Given the description of an element on the screen output the (x, y) to click on. 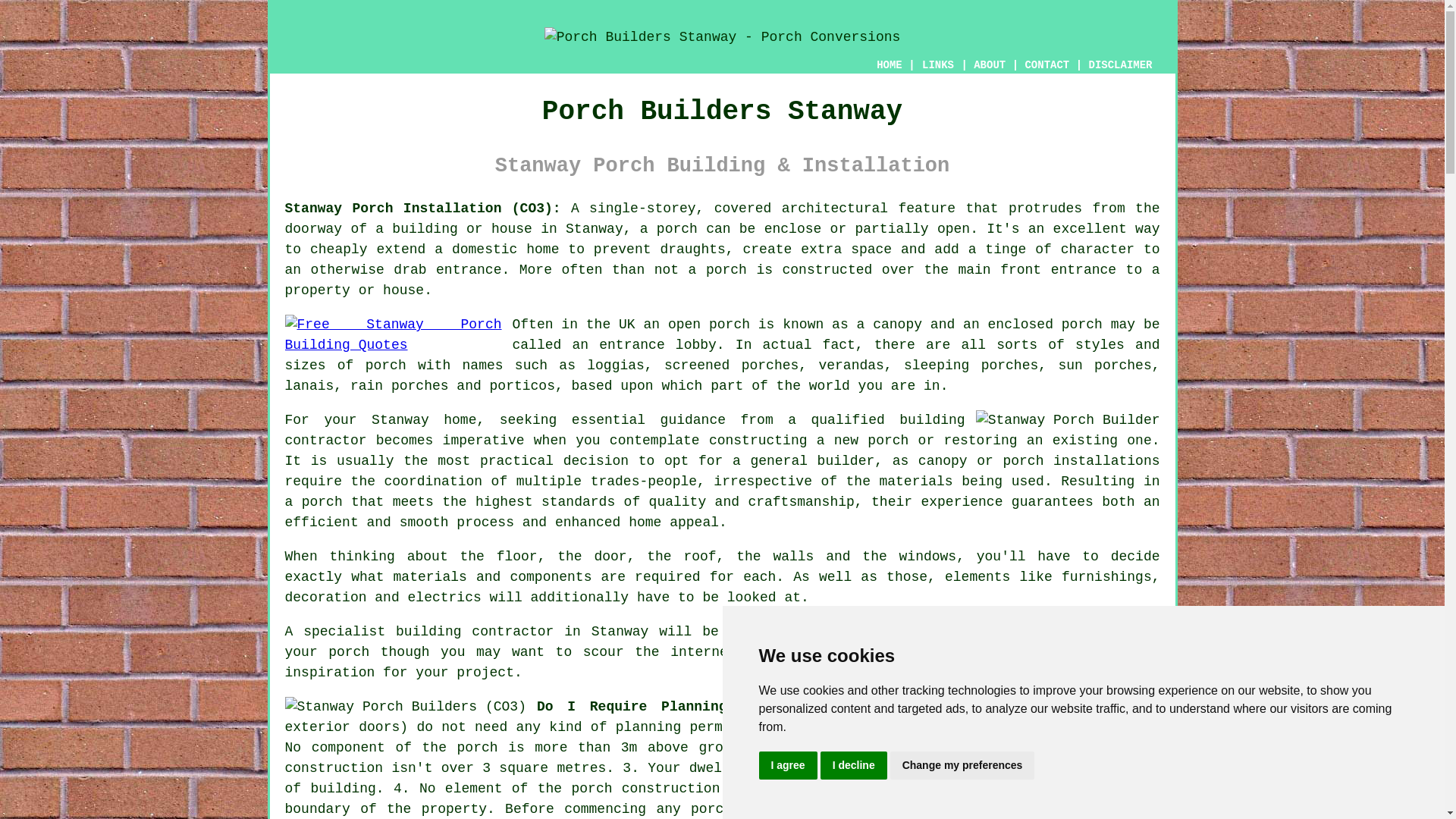
HOME (889, 64)
I agree (787, 765)
LINKS (938, 65)
Porch Builders Stanway (721, 37)
Change my preferences (962, 765)
screened porches (730, 365)
building contractor (625, 429)
verandas (850, 365)
a porch (313, 501)
Porch Builder Stanway Essex (1067, 420)
